Given the description of an element on the screen output the (x, y) to click on. 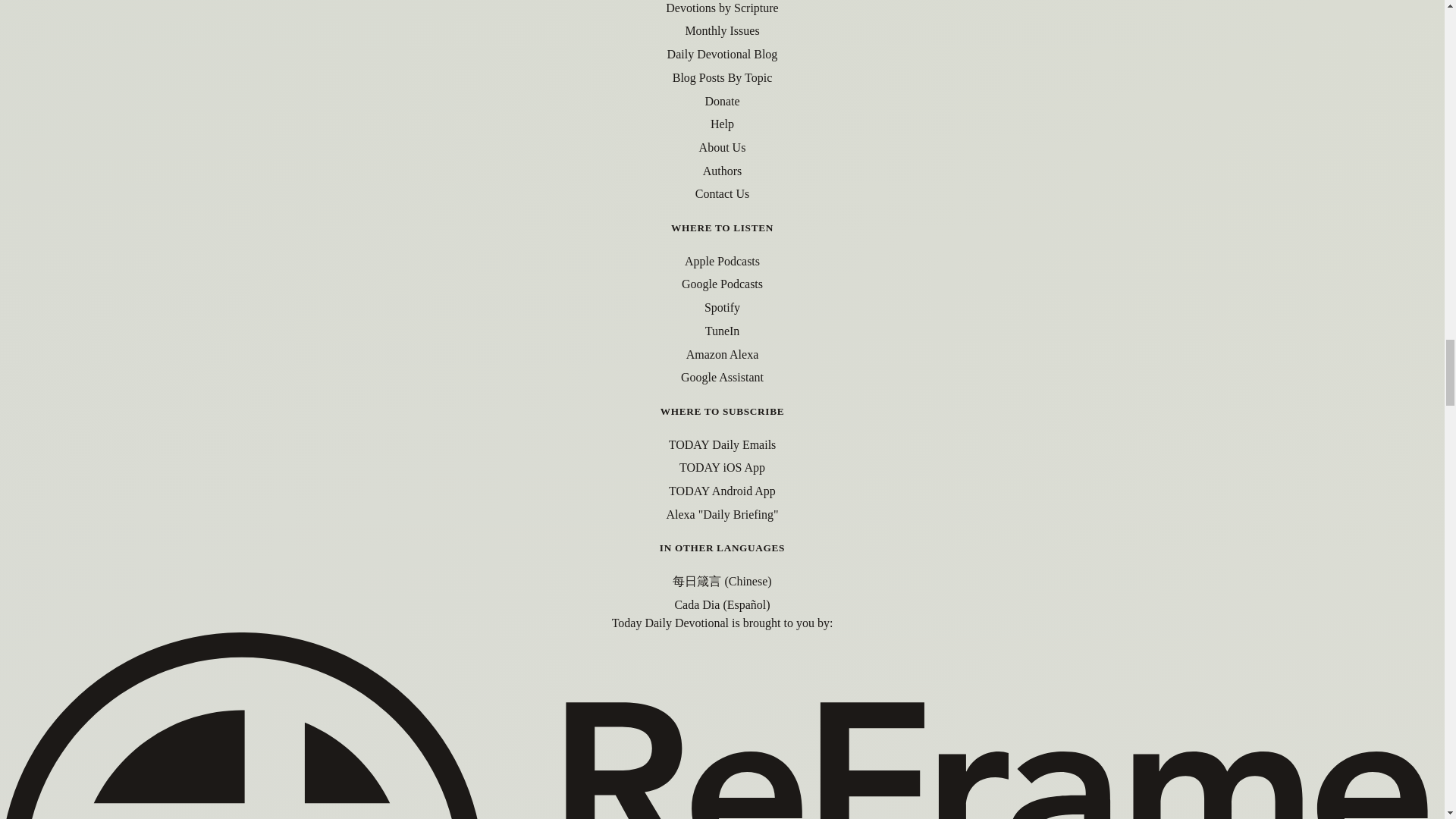
Blog Posts By Topic (722, 77)
Monthly Issues (721, 30)
Donate (721, 101)
Devotions by Scripture (721, 7)
Daily Devotional Blog (721, 53)
About Us (721, 146)
Help (721, 123)
